Given the description of an element on the screen output the (x, y) to click on. 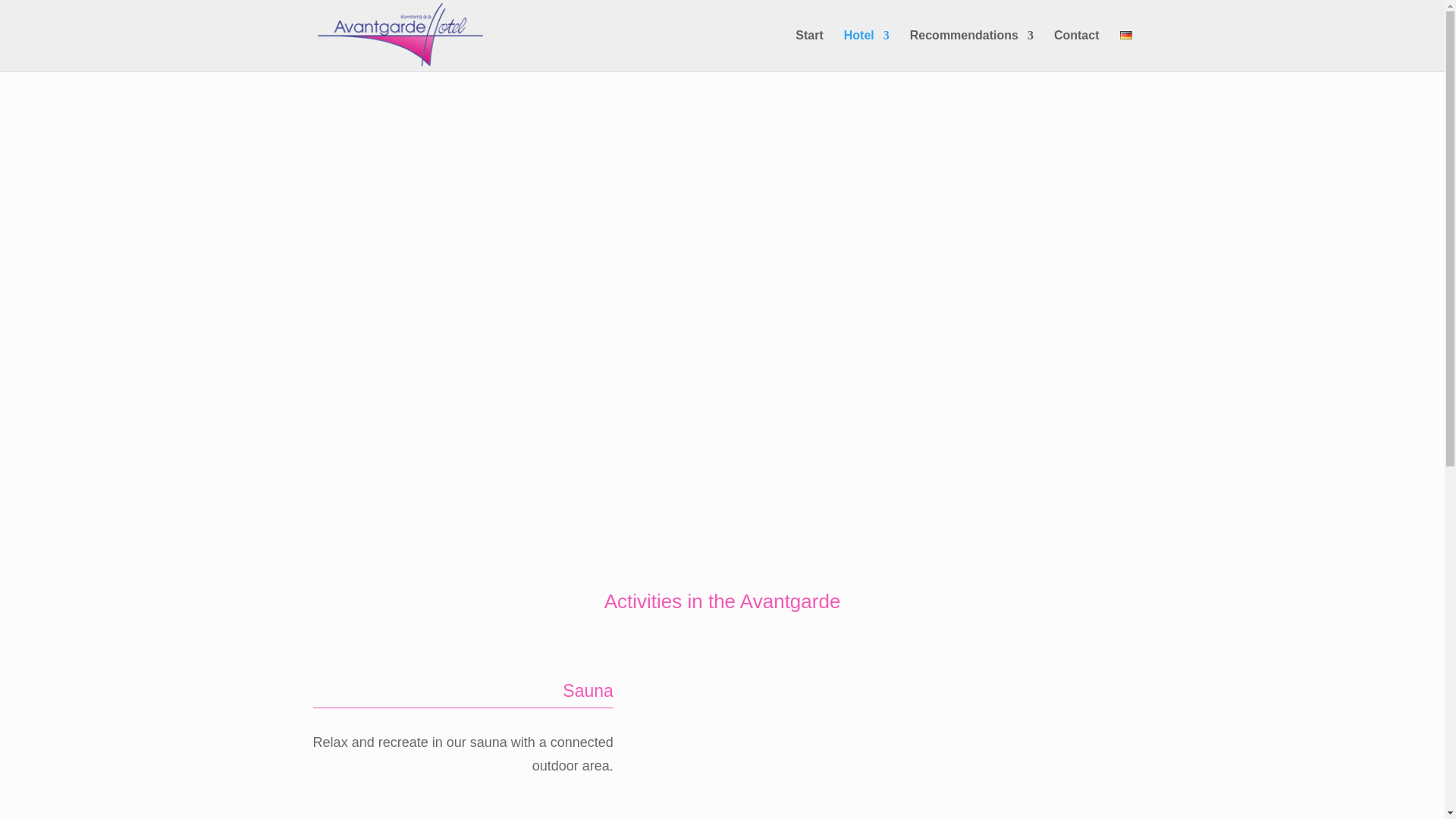
Recommendations (971, 50)
Start (808, 50)
Hotel (866, 50)
Contact (1076, 50)
